Given the description of an element on the screen output the (x, y) to click on. 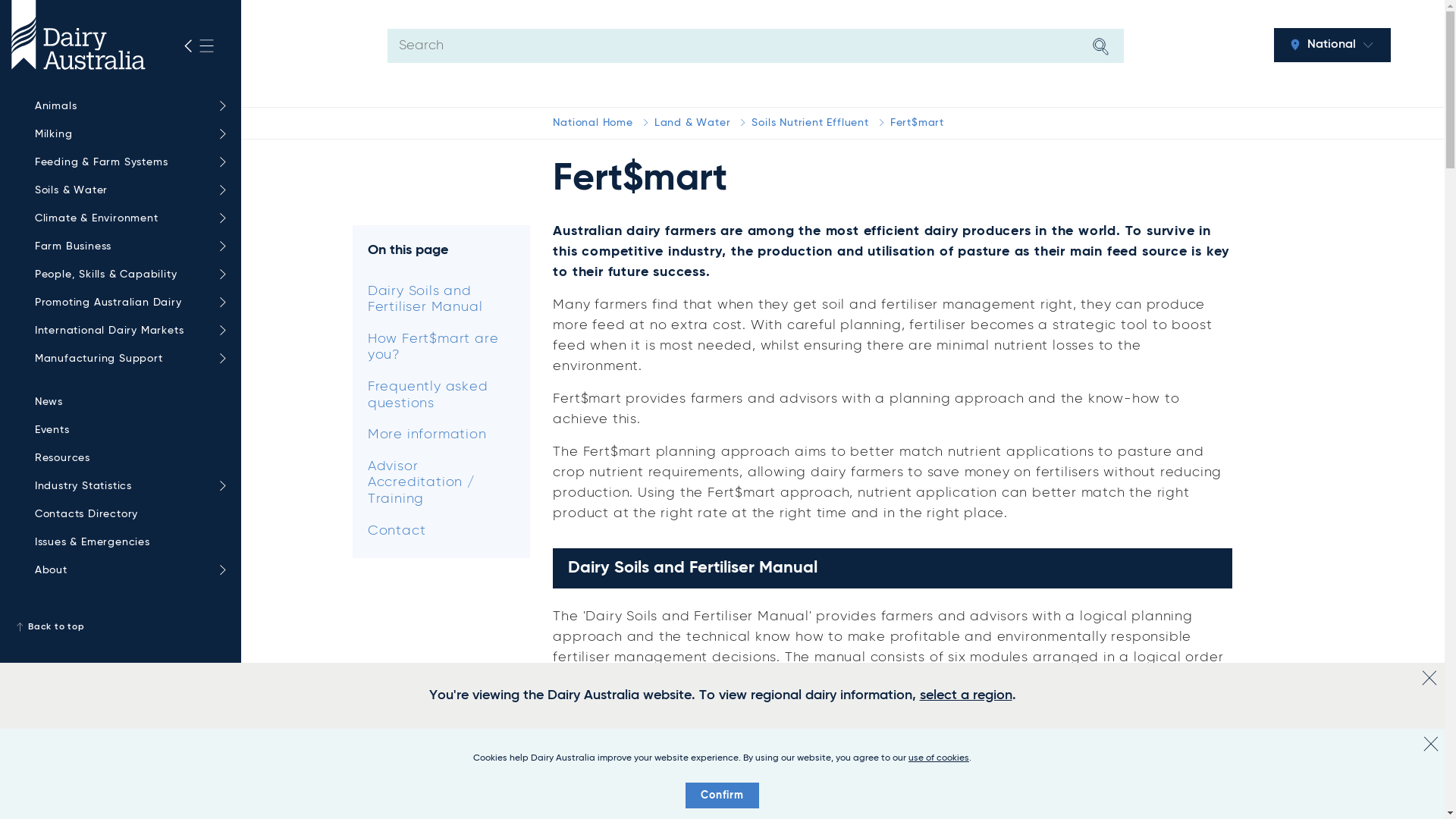
Land & Water Element type: text (692, 122)
Dairy Soils and Fertiliser Manual Element type: text (441, 299)
Download Element type: text (1180, 752)
Climate & Environment Element type: text (126, 218)
Milking Element type: text (126, 134)
Manufacturing Support Element type: text (126, 359)
Farm Business Element type: text (126, 246)
Events Element type: text (126, 430)
Feeding & Farm Systems Element type: text (126, 162)
Resources Element type: text (126, 458)
select a region Element type: text (965, 695)
Frequently asked questions Element type: text (441, 395)
Issues & Emergencies Element type: text (126, 542)
Confirm Element type: text (722, 795)
News Element type: text (126, 402)
About Element type: text (126, 570)
Promoting Australian Dairy Element type: text (126, 302)
Soils Nutrient Effluent Element type: text (809, 122)
Contacts Directory Element type: text (126, 514)
Contact Element type: text (441, 531)
Back to top Element type: text (120, 626)
How Fert$mart are you? Element type: text (441, 347)
Soils & Water Element type: text (126, 190)
Animals Element type: text (126, 106)
International Dairy Markets Element type: text (126, 330)
More information Element type: text (441, 435)
People, Skills & Capability Element type: text (126, 274)
National Element type: text (1332, 45)
Fert$mart Element type: text (917, 122)
National Home Element type: text (592, 122)
use of cookies Element type: text (938, 757)
Advisor Accreditation / Training Element type: text (441, 483)
X Element type: text (1430, 743)
Industry Statistics Element type: text (126, 486)
X Element type: text (1429, 677)
